Given the description of an element on the screen output the (x, y) to click on. 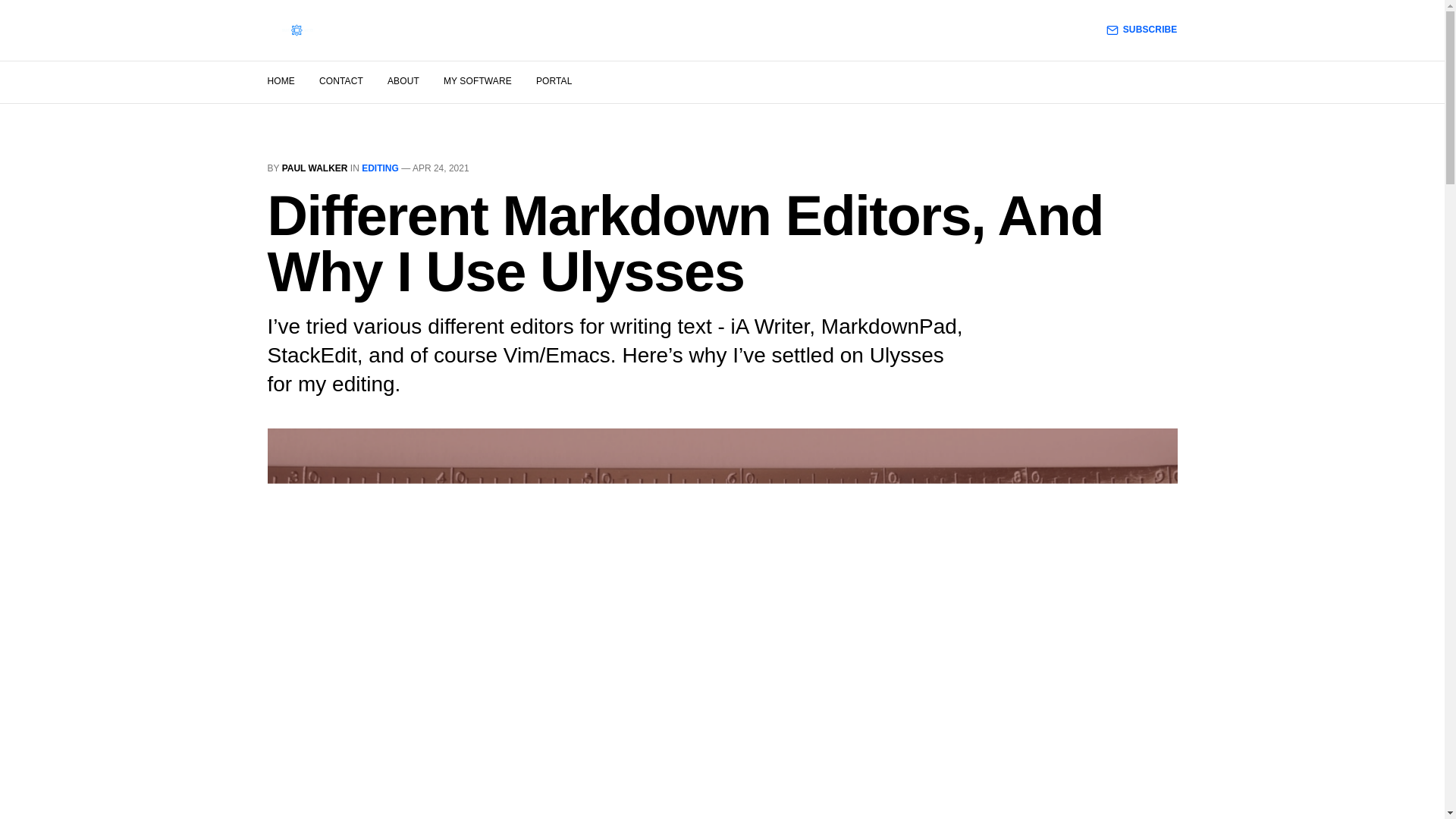
PORTAL (553, 81)
PAUL WALKER (314, 167)
ABOUT (403, 81)
CONTACT (340, 81)
MY SOFTWARE (478, 81)
SUBSCRIBE (1141, 29)
EDITING (379, 167)
HOME (280, 81)
